Given the description of an element on the screen output the (x, y) to click on. 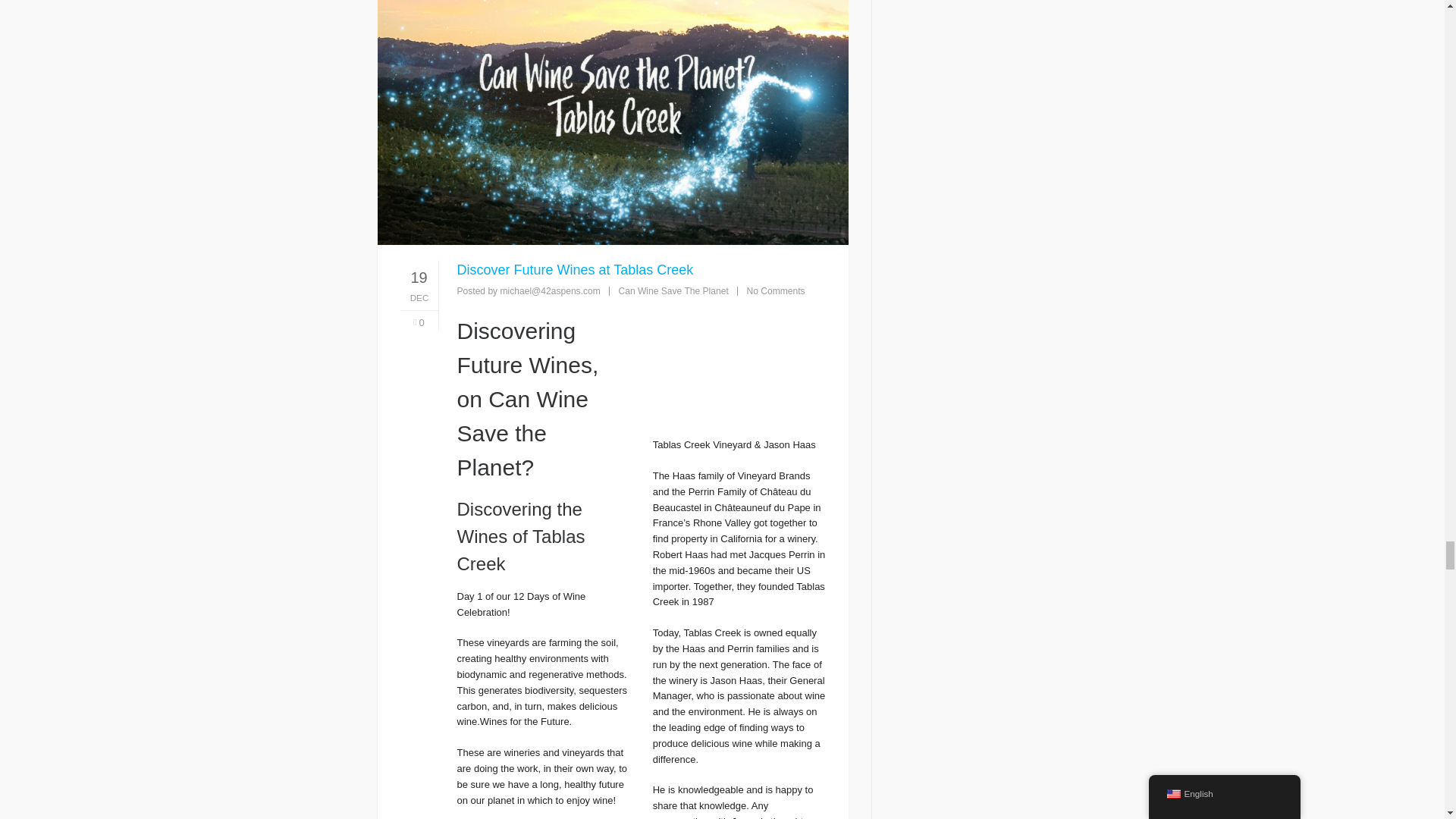
No Comments (775, 290)
